Given the description of an element on the screen output the (x, y) to click on. 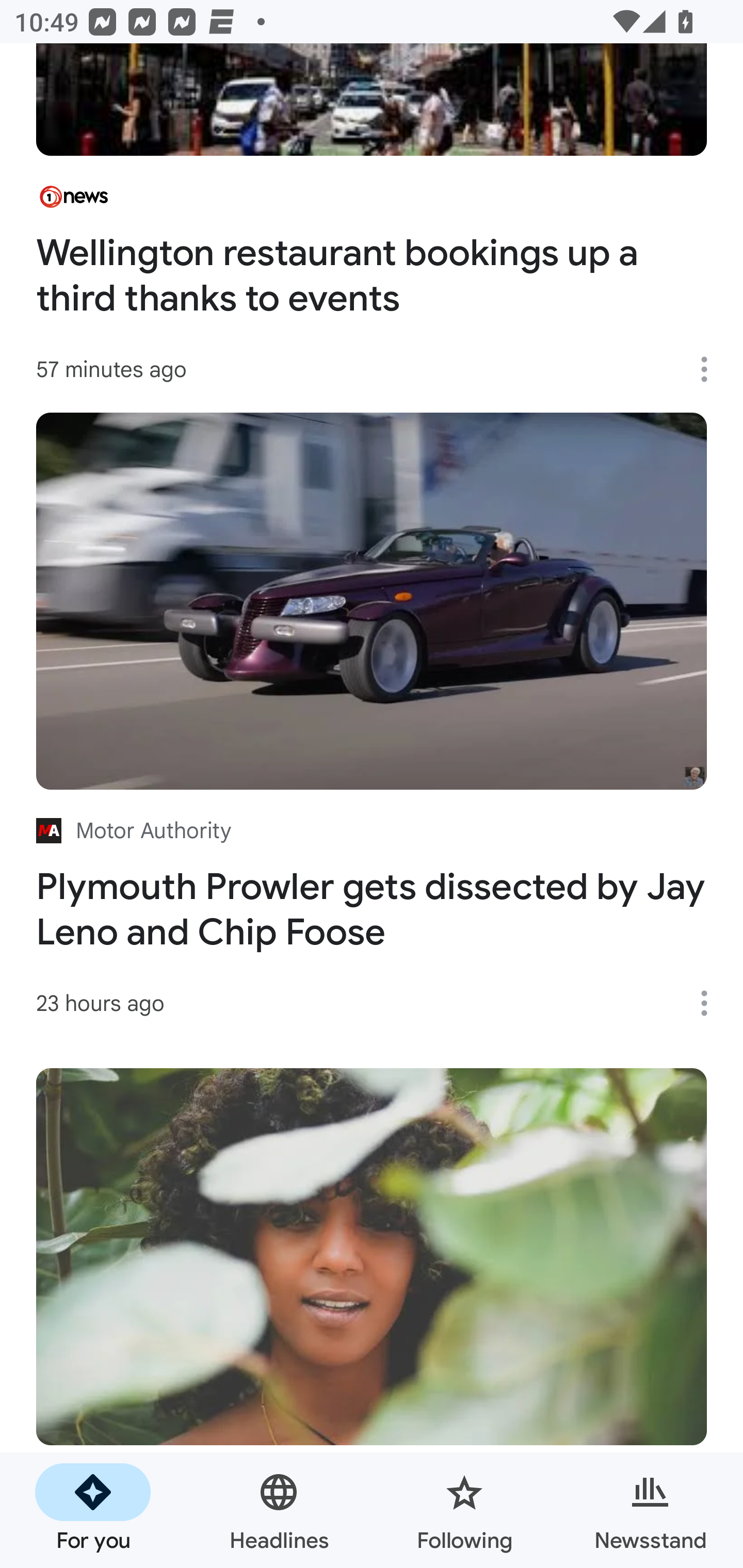
More options (711, 369)
More options (711, 1003)
For you (92, 1509)
Headlines (278, 1509)
Following (464, 1509)
Newsstand (650, 1509)
